Given the description of an element on the screen output the (x, y) to click on. 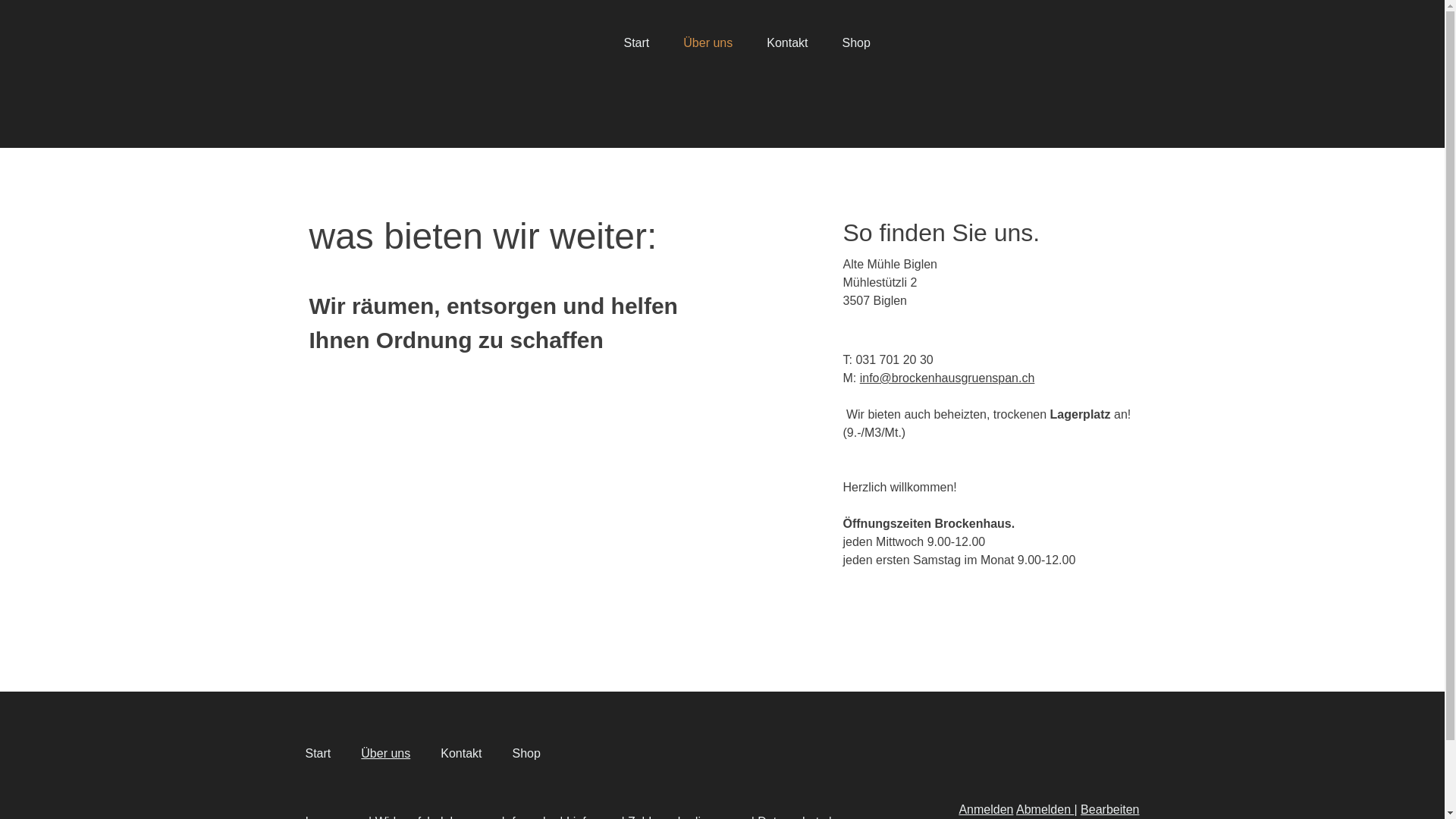
Start Element type: text (317, 753)
Kontakt Element type: text (460, 753)
Shop Element type: text (855, 42)
Bearbeiten Element type: text (1109, 809)
Kontakt Element type: text (786, 42)
Start Element type: text (636, 42)
Shop Element type: text (525, 753)
Anmelden Element type: text (985, 809)
info@brockenhausgruenspan.ch Element type: text (947, 377)
Abmelden Element type: text (1045, 809)
